Given the description of an element on the screen output the (x, y) to click on. 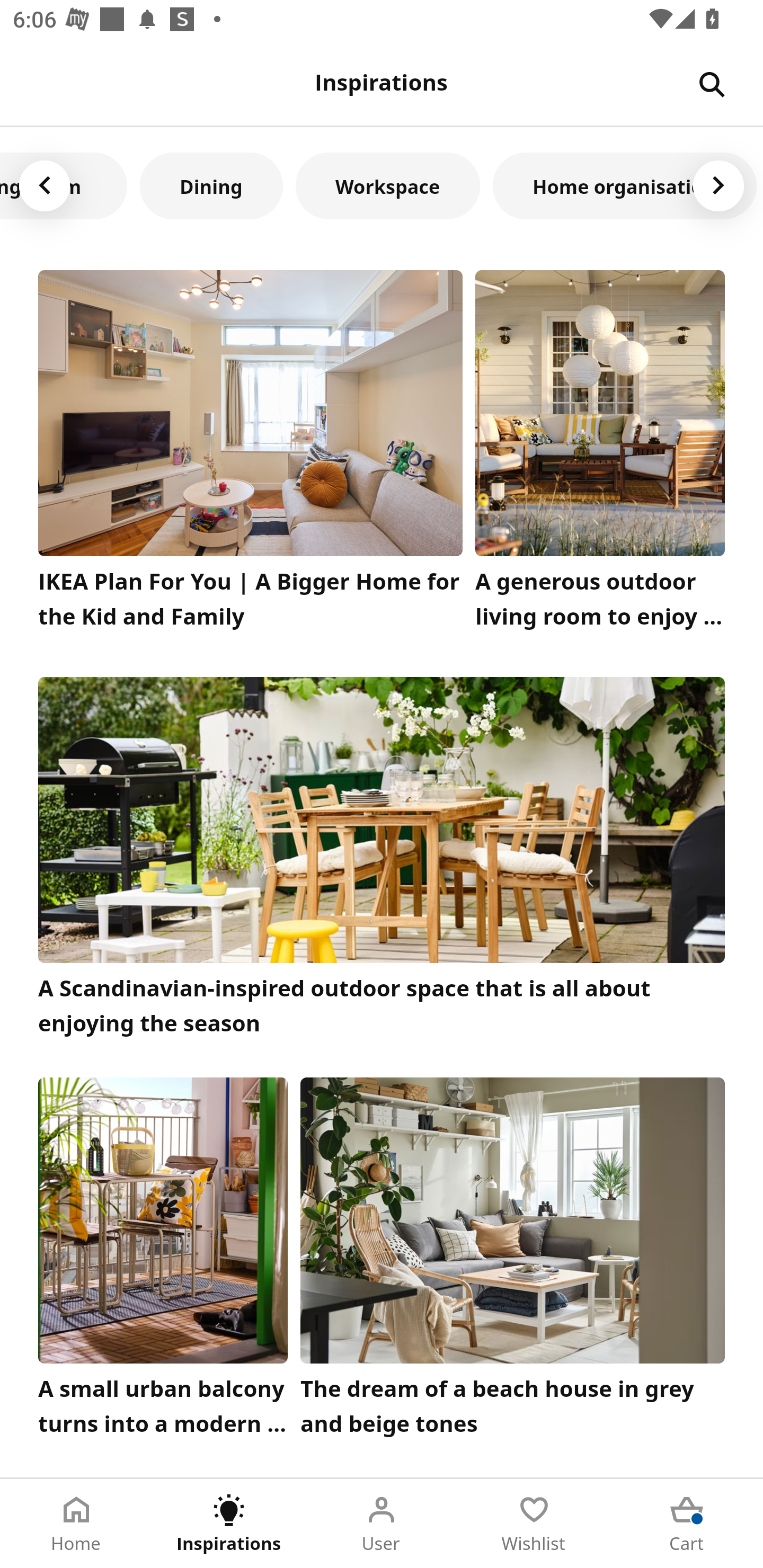
Dining (211, 185)
Workspace (387, 185)
Home organisation (624, 185)
The dream of a beach house in grey and beige tones (512, 1261)
Home
Tab 1 of 5 (76, 1522)
Inspirations
Tab 2 of 5 (228, 1522)
User
Tab 3 of 5 (381, 1522)
Wishlist
Tab 4 of 5 (533, 1522)
Cart
Tab 5 of 5 (686, 1522)
